Given the description of an element on the screen output the (x, y) to click on. 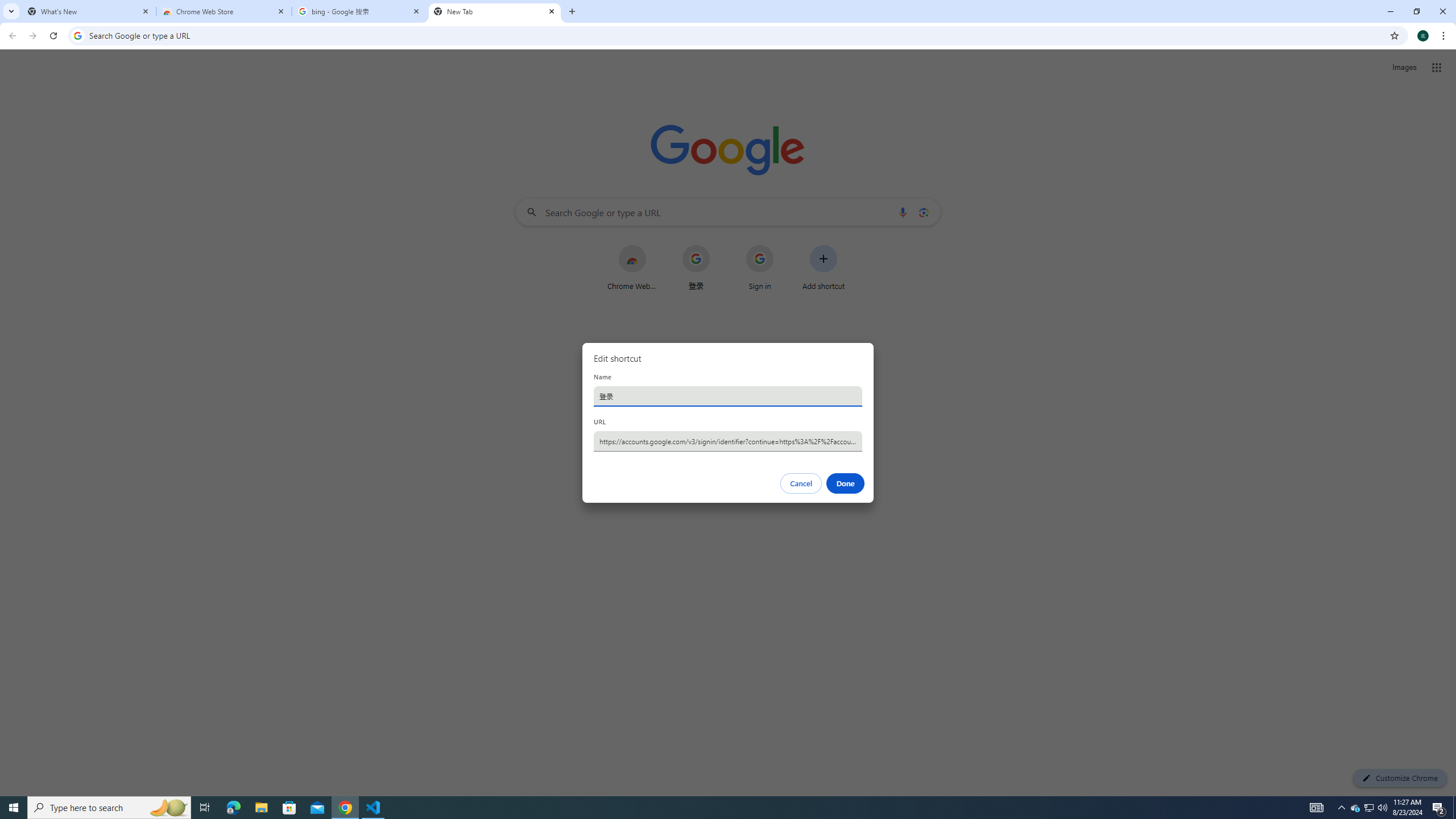
New Tab (494, 11)
Done (845, 483)
Chrome Web Store (224, 11)
